Given the description of an element on the screen output the (x, y) to click on. 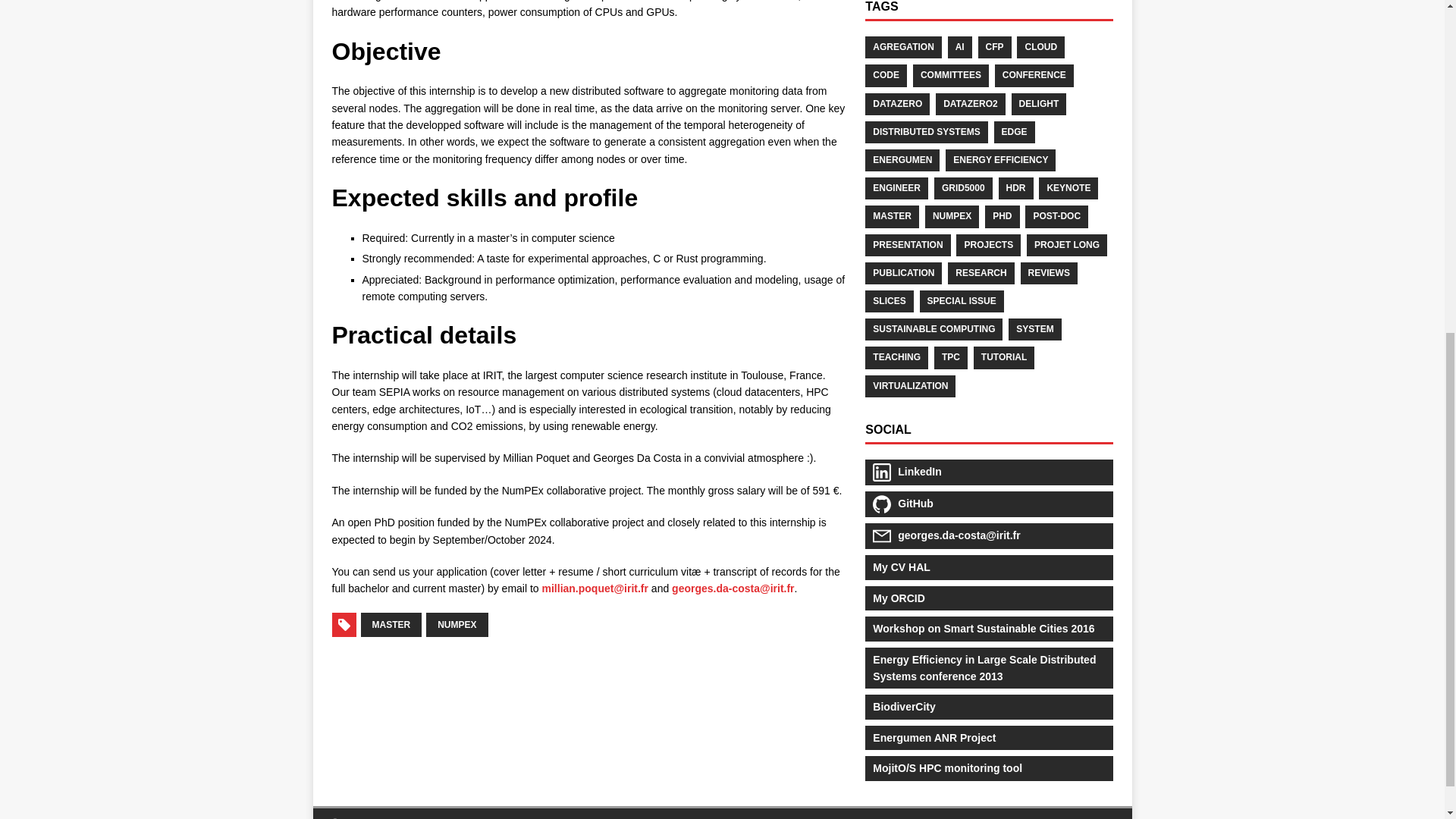
DataZero2 (971, 104)
CONFERENCE (1034, 75)
AI (959, 47)
EDGE (1014, 132)
Energy Efficiency (999, 160)
Distributed Systems (925, 132)
MASTER (391, 624)
Committees (950, 75)
ENERGY EFFICIENCY (999, 160)
Grid5000 (963, 188)
DATAZERO2 (971, 104)
Code (885, 75)
CFP (994, 47)
DISTRIBUTED SYSTEMS (925, 132)
Conference (1034, 75)
